Given the description of an element on the screen output the (x, y) to click on. 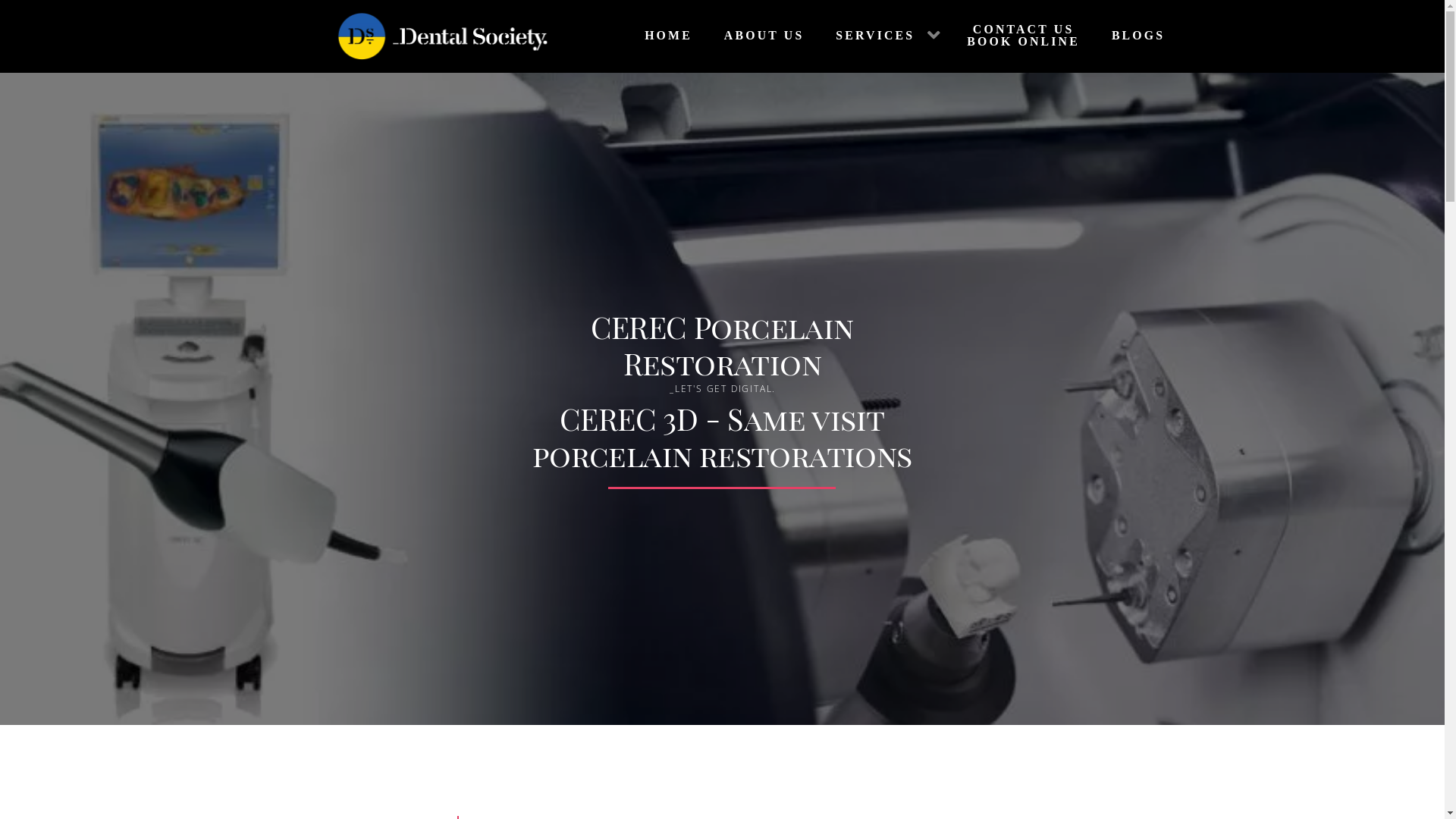
CONTACT US
BOOK ONLINE Element type: text (1019, 36)
HOME Element type: text (664, 36)
ABOUT US Element type: text (759, 36)
BLOGS Element type: text (1134, 36)
SERVICES Element type: text (881, 36)
